Given the description of an element on the screen output the (x, y) to click on. 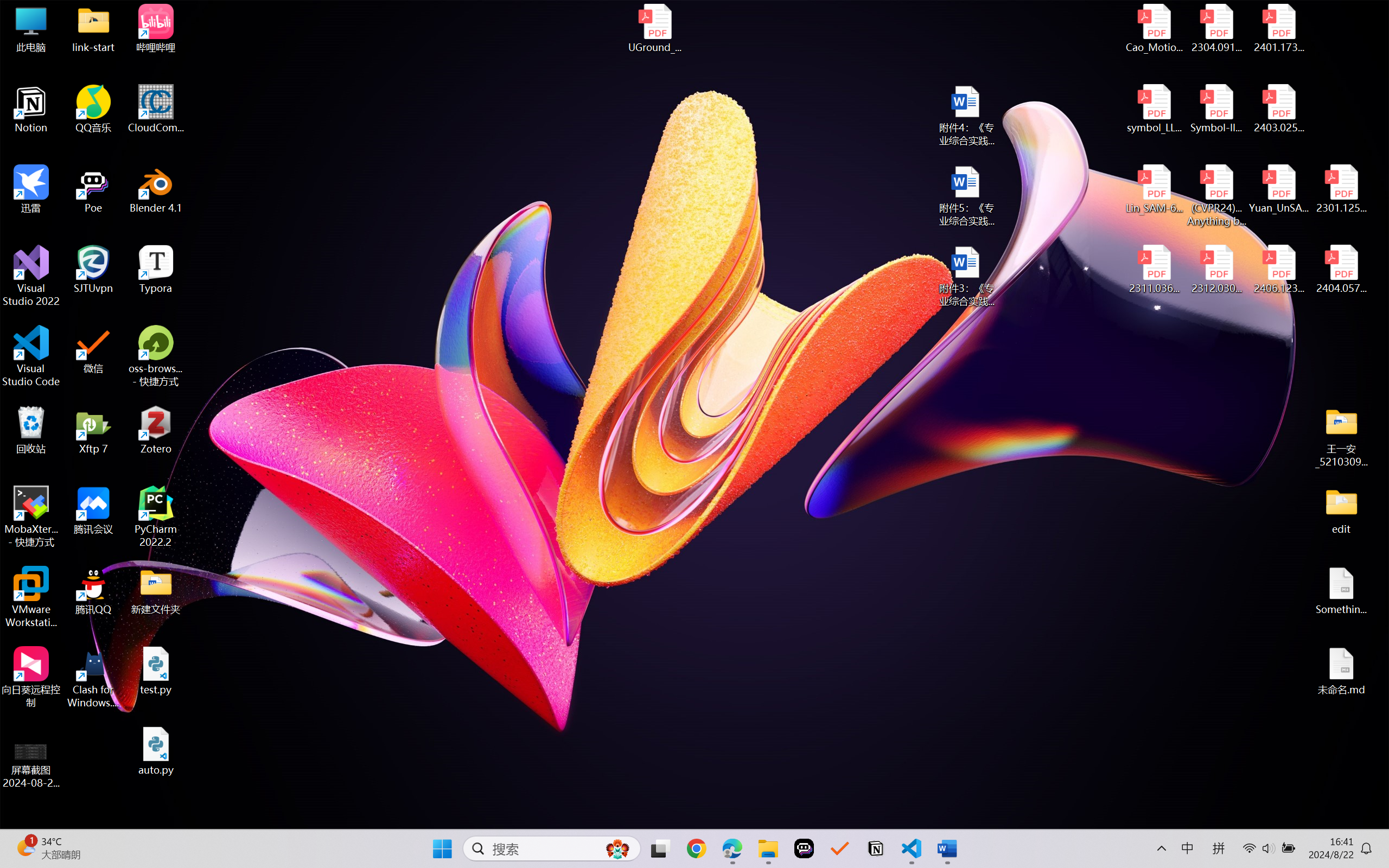
Notion (875, 848)
2312.03032v2.pdf (1216, 269)
Notion (31, 109)
CloudCompare (156, 109)
Xftp 7 (93, 430)
